Given the description of an element on the screen output the (x, y) to click on. 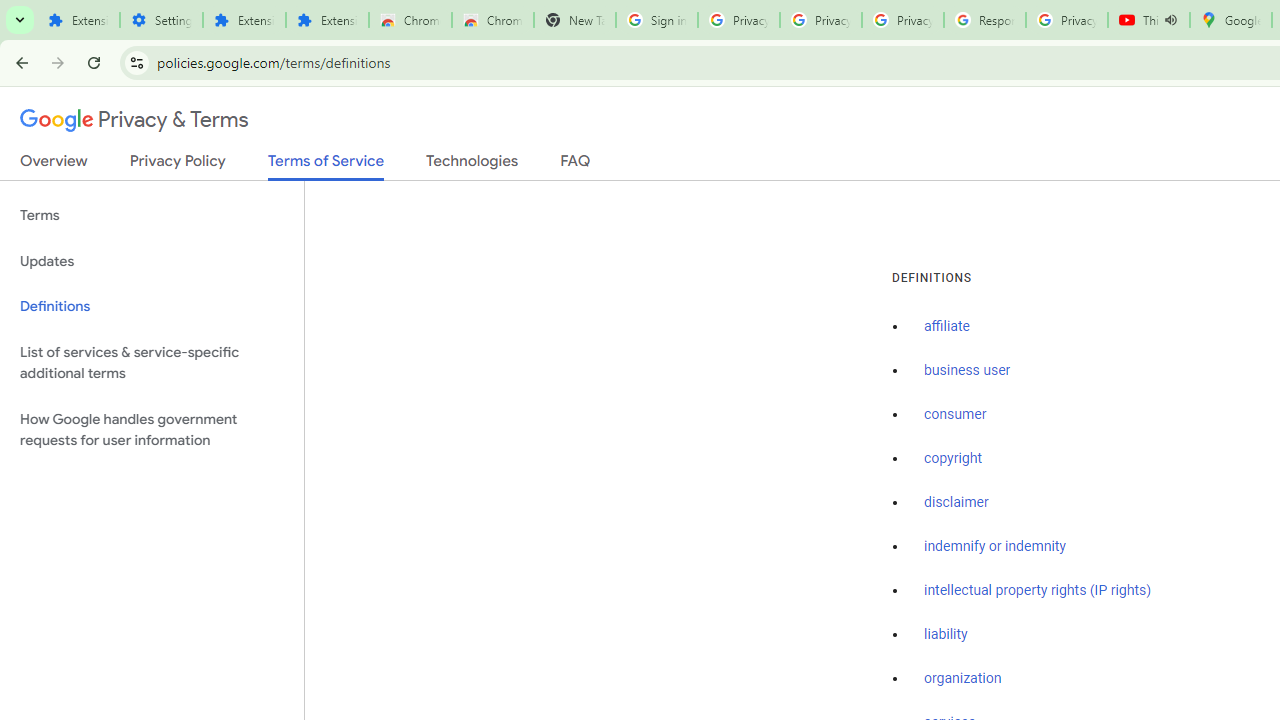
Chrome Web Store (409, 20)
Sign in - Google Accounts (656, 20)
copyright (952, 459)
Extensions (326, 20)
Chrome Web Store - Themes (492, 20)
liability (945, 634)
disclaimer (956, 502)
affiliate (947, 327)
